Given the description of an element on the screen output the (x, y) to click on. 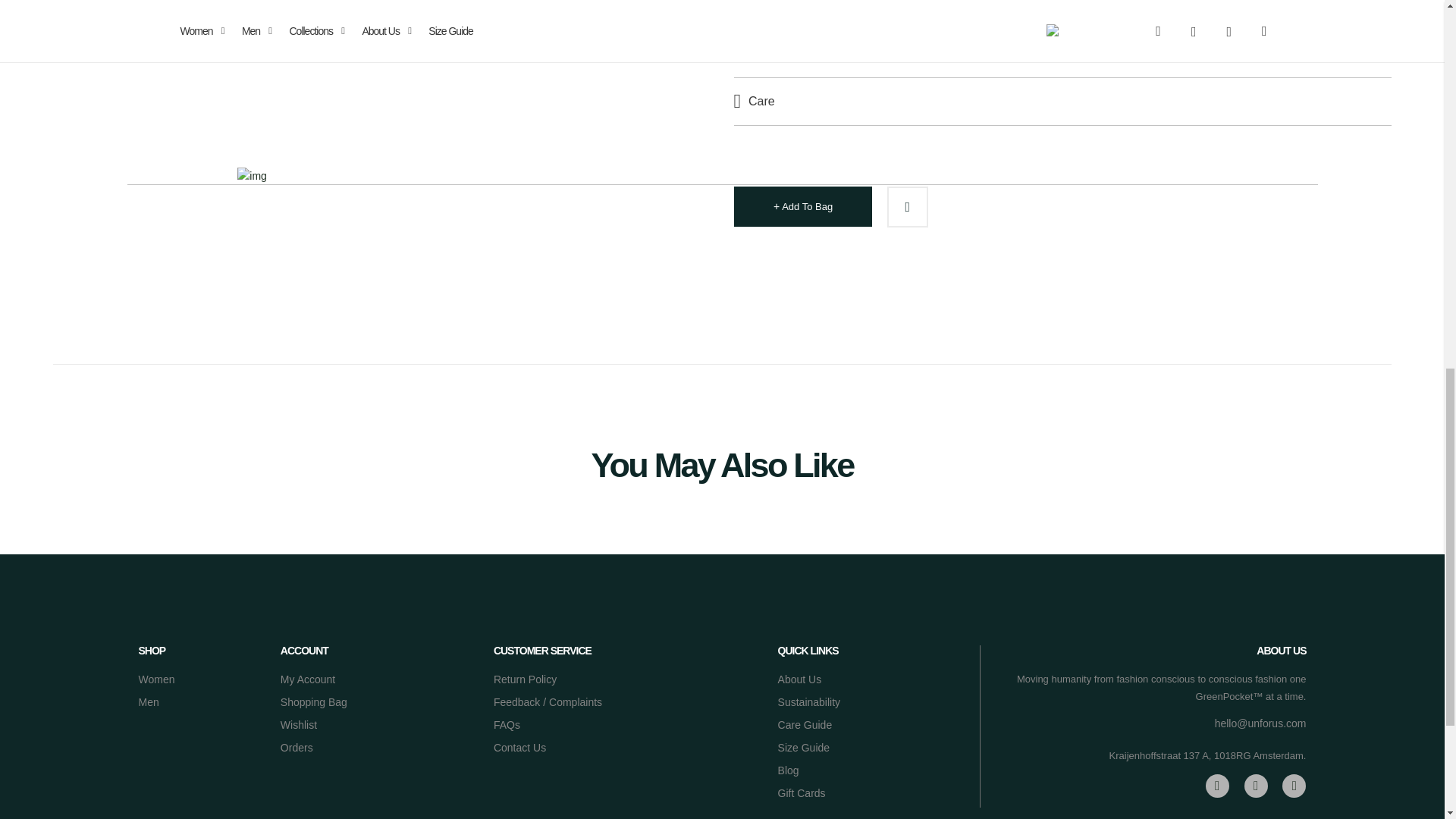
Add to Wishlist (907, 205)
faq's (506, 724)
